Given the description of an element on the screen output the (x, y) to click on. 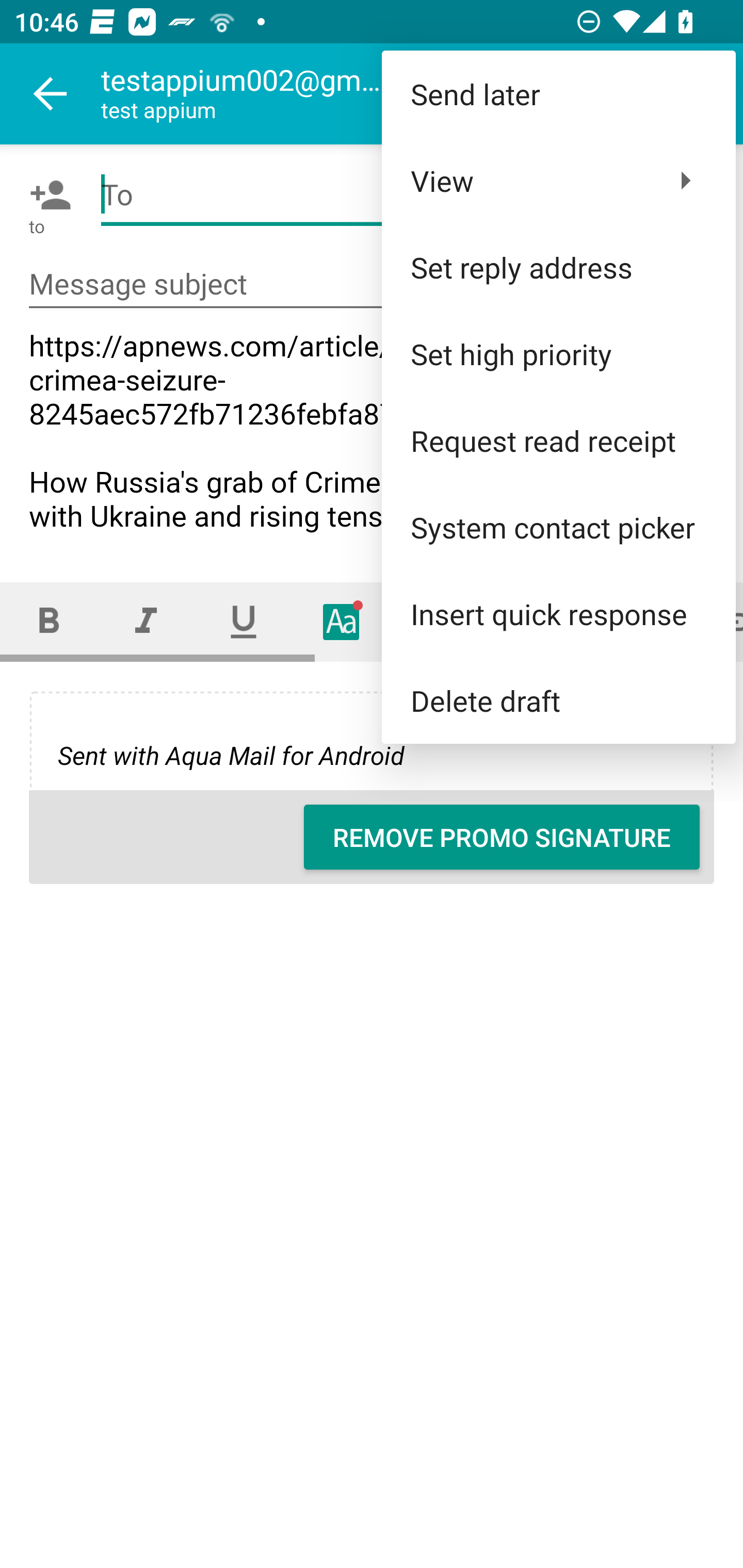
Send later (558, 93)
View (558, 180)
Set reply address (558, 267)
Set high priority (558, 353)
Request read receipt (558, 440)
System contact picker (558, 527)
Insert quick response (558, 613)
Delete draft (558, 699)
